Given the description of an element on the screen output the (x, y) to click on. 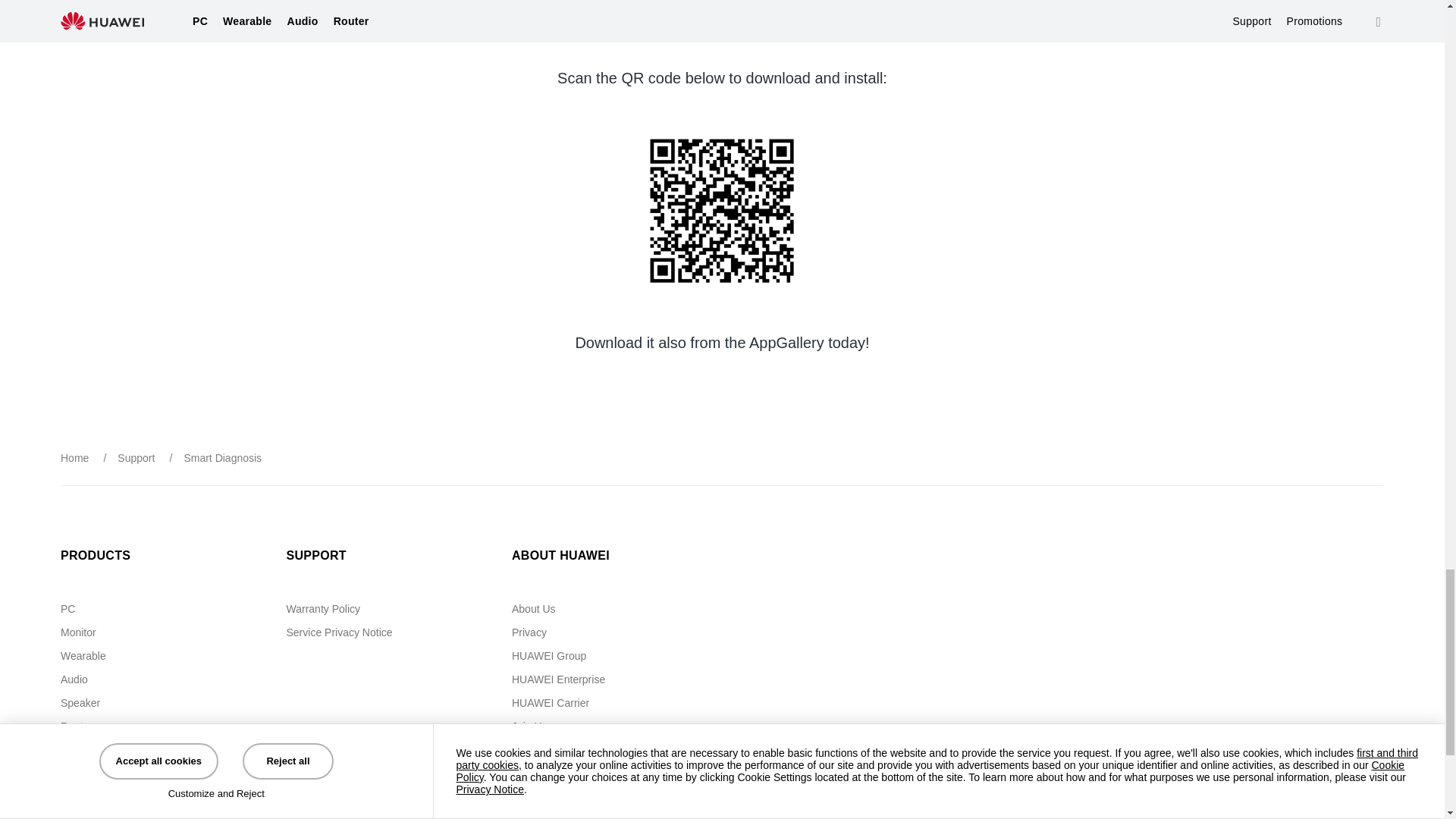
EMUI (74, 773)
Wearable (83, 655)
Audio (74, 679)
AppGallery (87, 749)
Monitor (78, 632)
Support (135, 458)
Router (77, 726)
Home (74, 458)
PC (68, 608)
Speaker (80, 702)
